Given the description of an element on the screen output the (x, y) to click on. 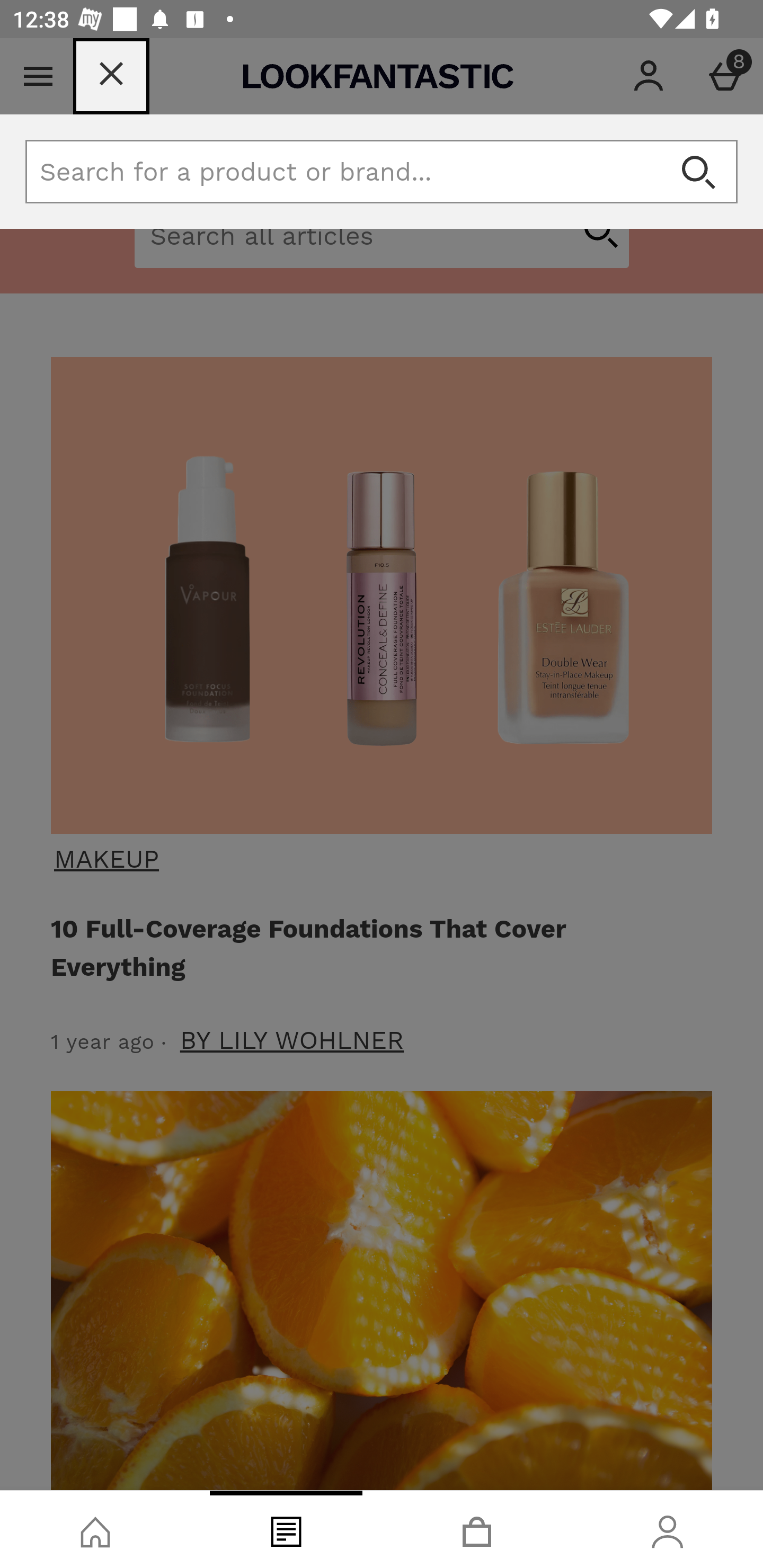
Close (111, 75)
Open search (697, 171)
Shop, tab, 1 of 4 (95, 1529)
Blog, tab, 2 of 4 (285, 1529)
Basket, tab, 3 of 4 (476, 1529)
Account, tab, 4 of 4 (667, 1529)
